Given the description of an element on the screen output the (x, y) to click on. 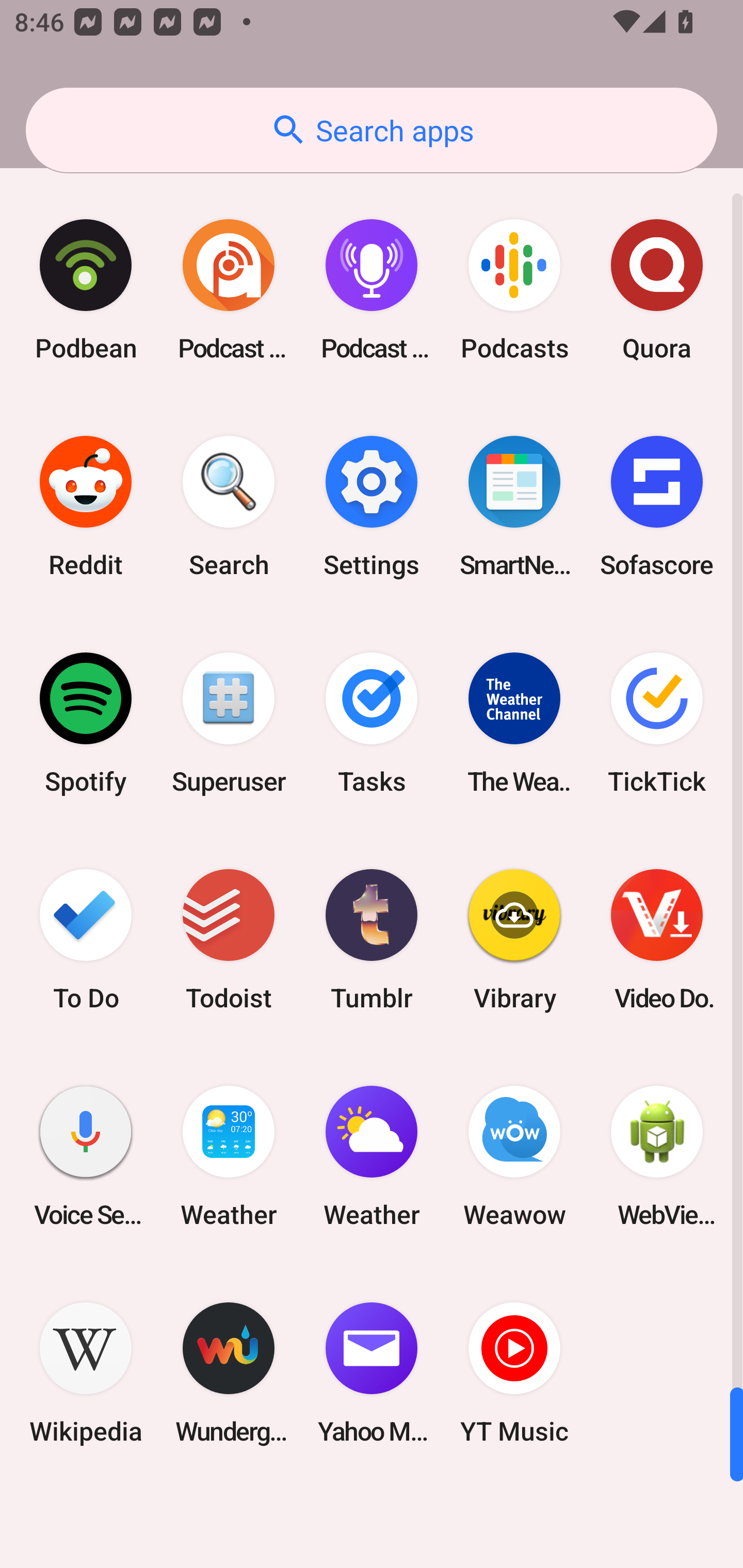
  Search apps (371, 130)
Podbean (85, 289)
Podcast Addict (228, 289)
Podcast Player (371, 289)
Podcasts (514, 289)
Quora (656, 289)
Reddit (85, 506)
Search (228, 506)
Settings (371, 506)
SmartNews (514, 506)
Sofascore (656, 506)
Spotify (85, 722)
Superuser (228, 722)
Tasks (371, 722)
The Weather Channel (514, 722)
TickTick (656, 722)
To Do (85, 939)
Todoist (228, 939)
Tumblr (371, 939)
Vibrary (514, 939)
Video Downloader & Ace Player (656, 939)
Voice Search (85, 1156)
Weather (228, 1156)
Weather (371, 1156)
Weawow (514, 1156)
WebView Browser Tester (656, 1156)
Wikipedia (85, 1373)
Wunderground (228, 1373)
Yahoo Mail (371, 1373)
YT Music (514, 1373)
